Given the description of an element on the screen output the (x, y) to click on. 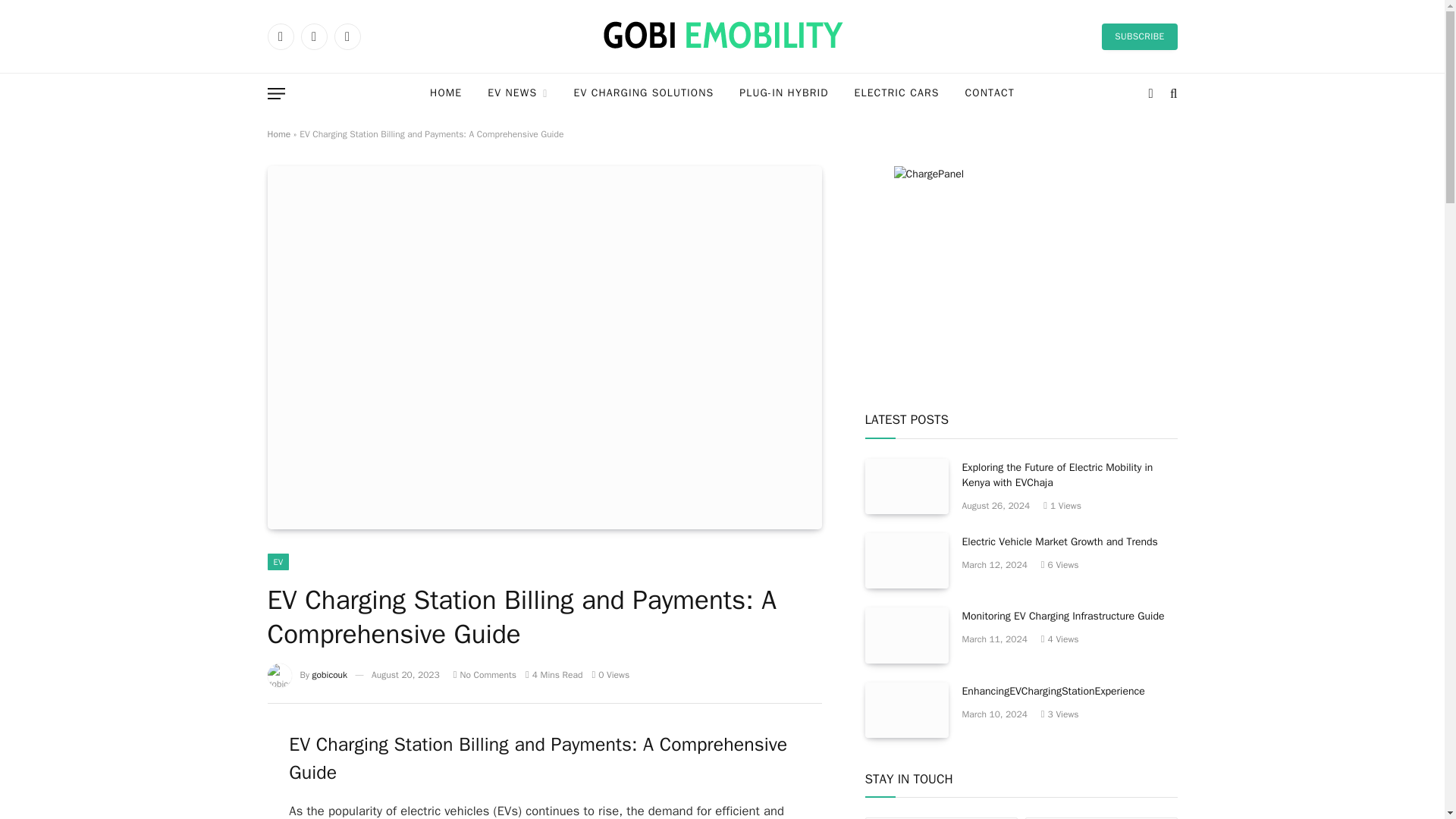
EV CHARGING SOLUTIONS (643, 93)
Instagram (346, 35)
ELECTRIC CARS (896, 93)
PLUG-IN HYBRID (783, 93)
CONTACT (989, 93)
Facebook (280, 35)
HOME (445, 93)
SUBSCRIBE (1139, 35)
Twitter (312, 35)
Switch to Dark Design - easier on eyes. (1150, 92)
